Given the description of an element on the screen output the (x, y) to click on. 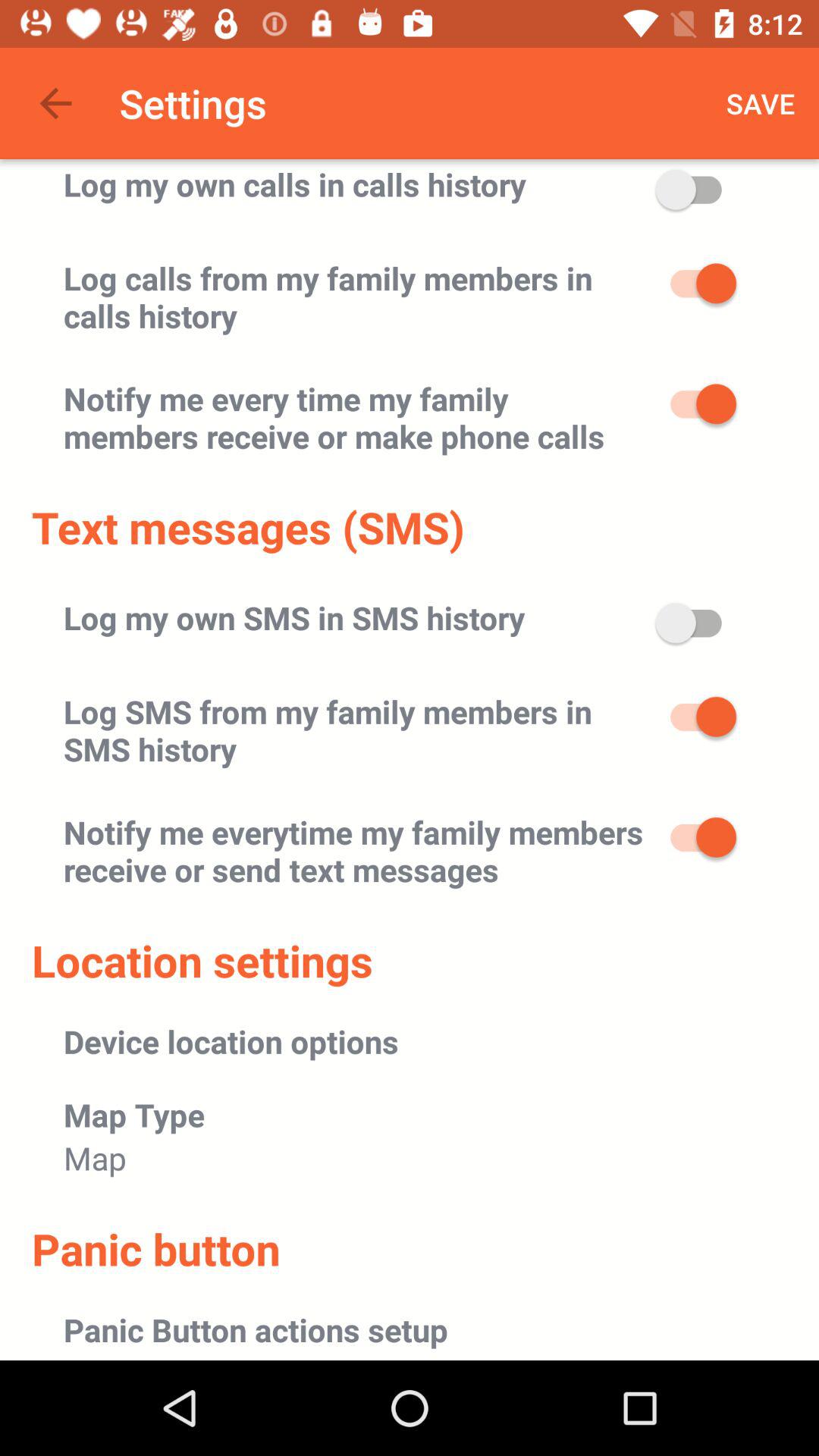
turn off icon below the device location options item (133, 1114)
